Given the description of an element on the screen output the (x, y) to click on. 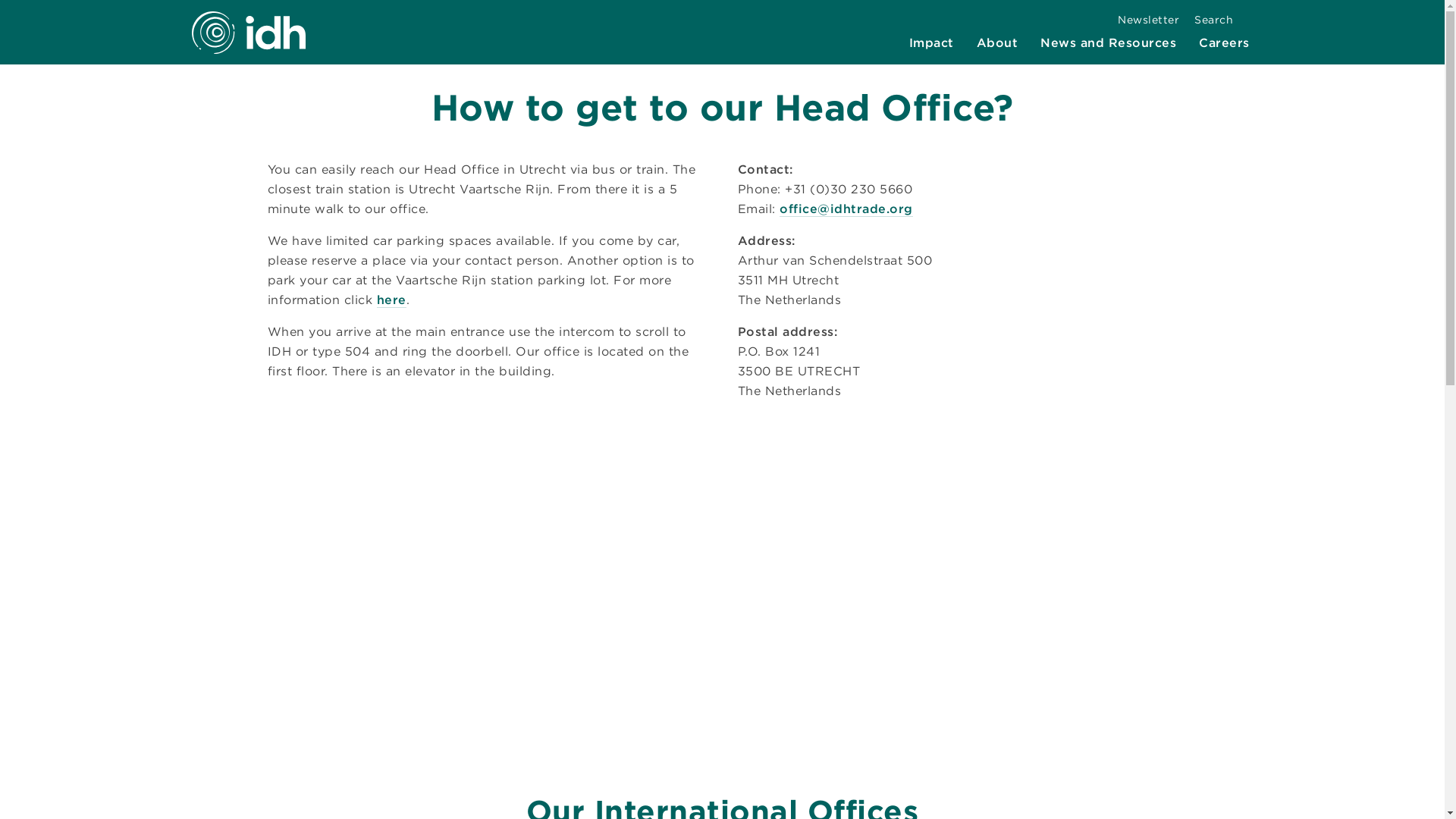
Search (1221, 19)
About (997, 42)
here (390, 299)
News and Resources (1107, 42)
IDH Logo (247, 32)
Careers (1224, 42)
Newsletter (1148, 19)
Impact (930, 42)
